Given the description of an element on the screen output the (x, y) to click on. 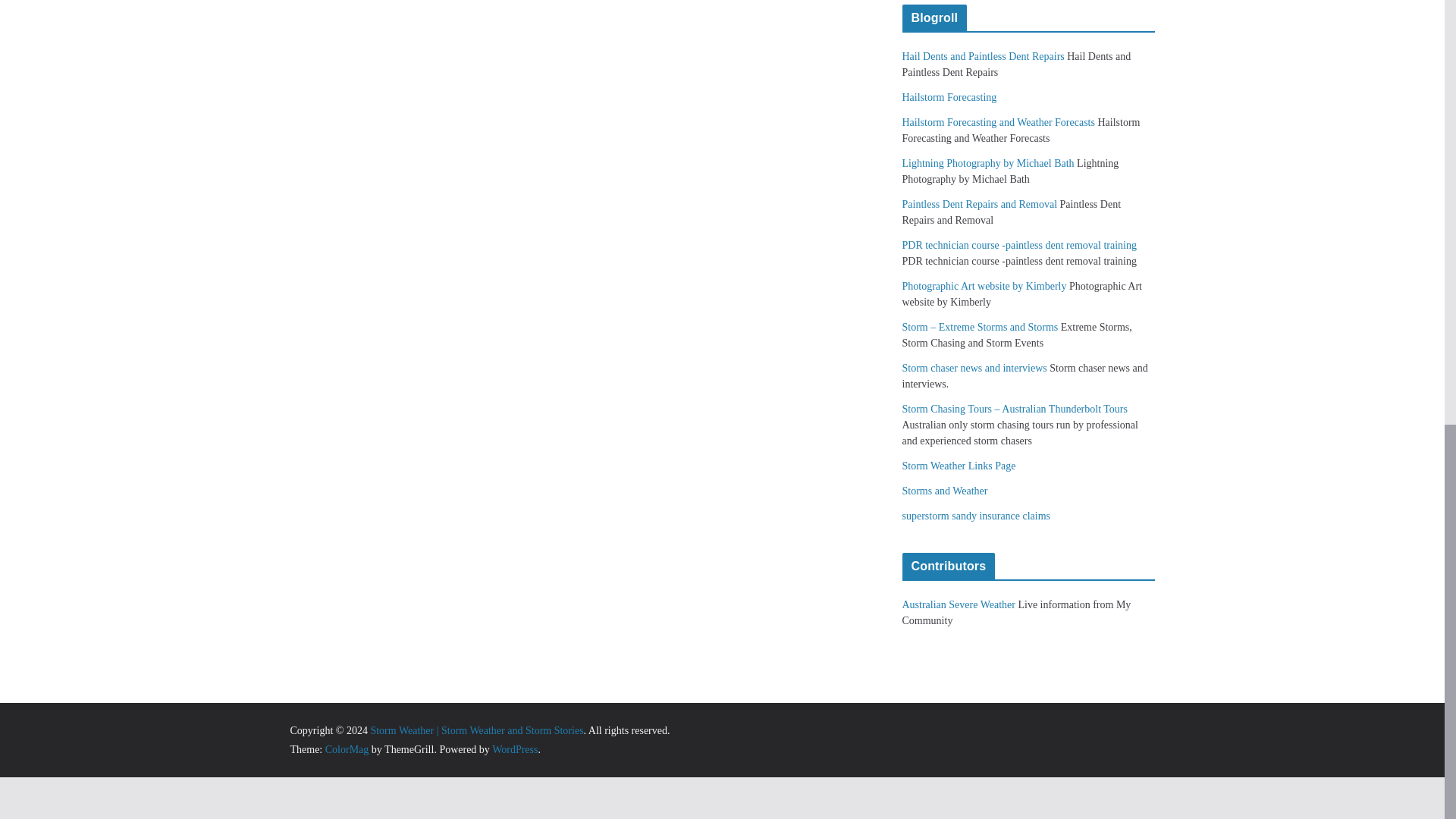
Lightning Photography by Michael Bath (988, 163)
Extreme Storms, Storm Chasing and Storm Events (980, 326)
Paintless Dent Repairs and Removal (980, 204)
Photographic Art website by Kimberly (984, 285)
Hailstorm Forecasting and Weather Forecasts (998, 122)
PDR technician course -paintless dent removal training (1019, 244)
Paintless Dent Repairs and Removal (980, 204)
Lightning Photography by Michael Bath (988, 163)
Hail Dents and Paintless Dent Repairs (983, 56)
